Given the description of an element on the screen output the (x, y) to click on. 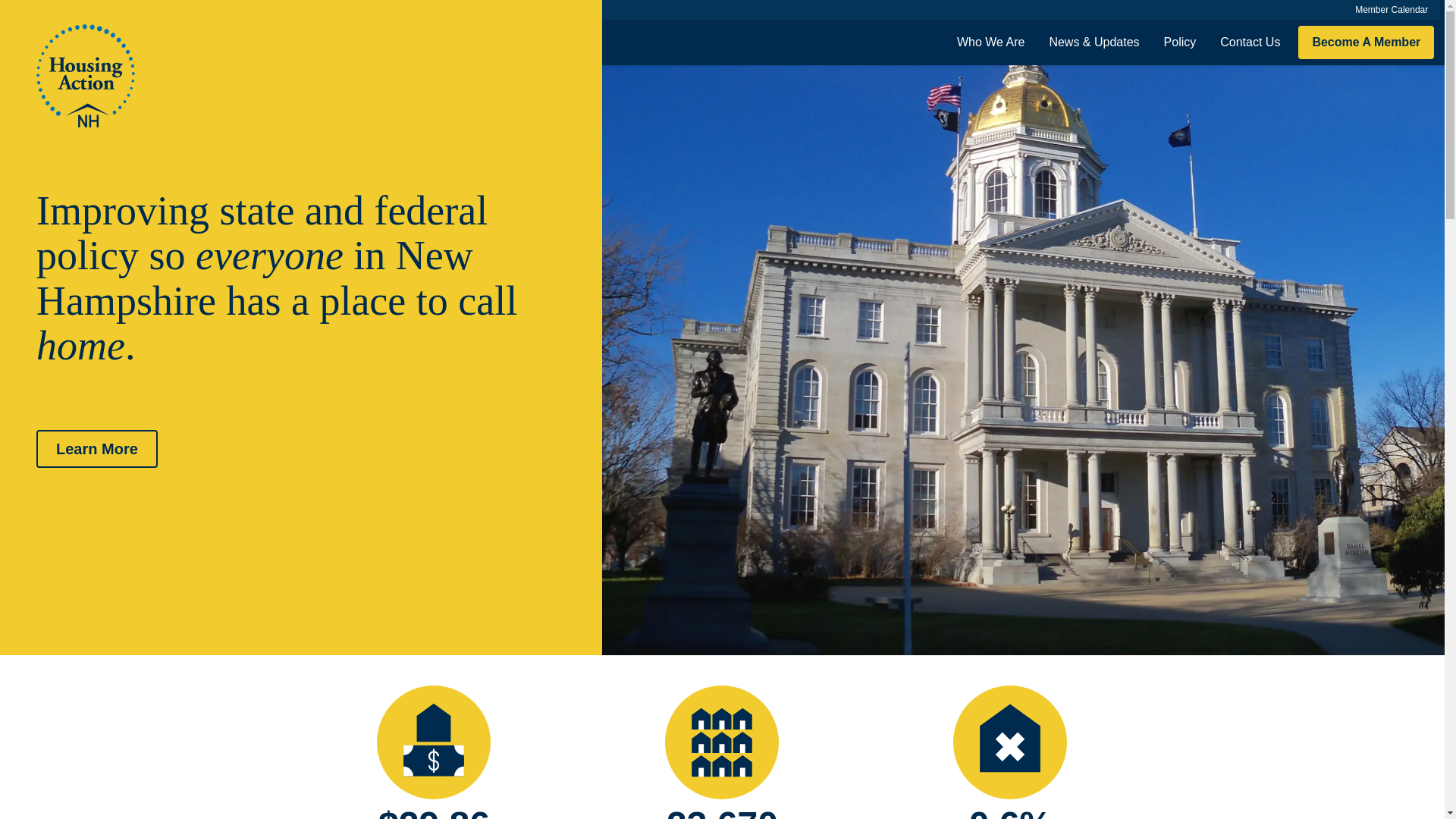
Contact Us (1250, 42)
Policy (1179, 42)
Become A Member (1366, 41)
Who We Are (990, 42)
Member Calendar (1390, 9)
Learn More (96, 448)
